Given the description of an element on the screen output the (x, y) to click on. 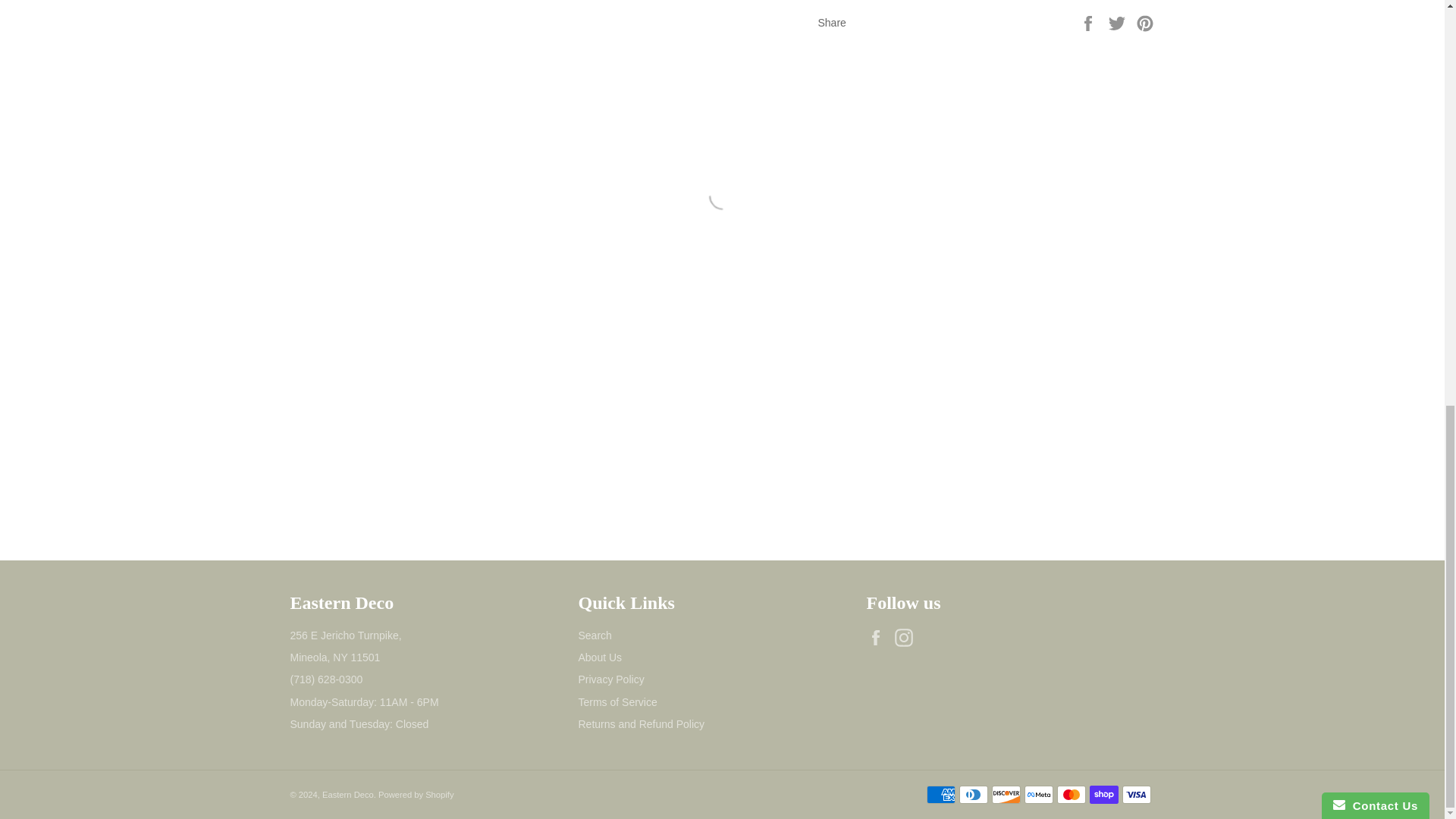
Eastern Deco on Facebook (878, 637)
Eastern Deco on Instagram (907, 637)
Pin on Pinterest (1144, 21)
Eastern Deco on Vimeo (936, 637)
Share on Facebook (1089, 21)
Tweet on Twitter (1118, 21)
